Given the description of an element on the screen output the (x, y) to click on. 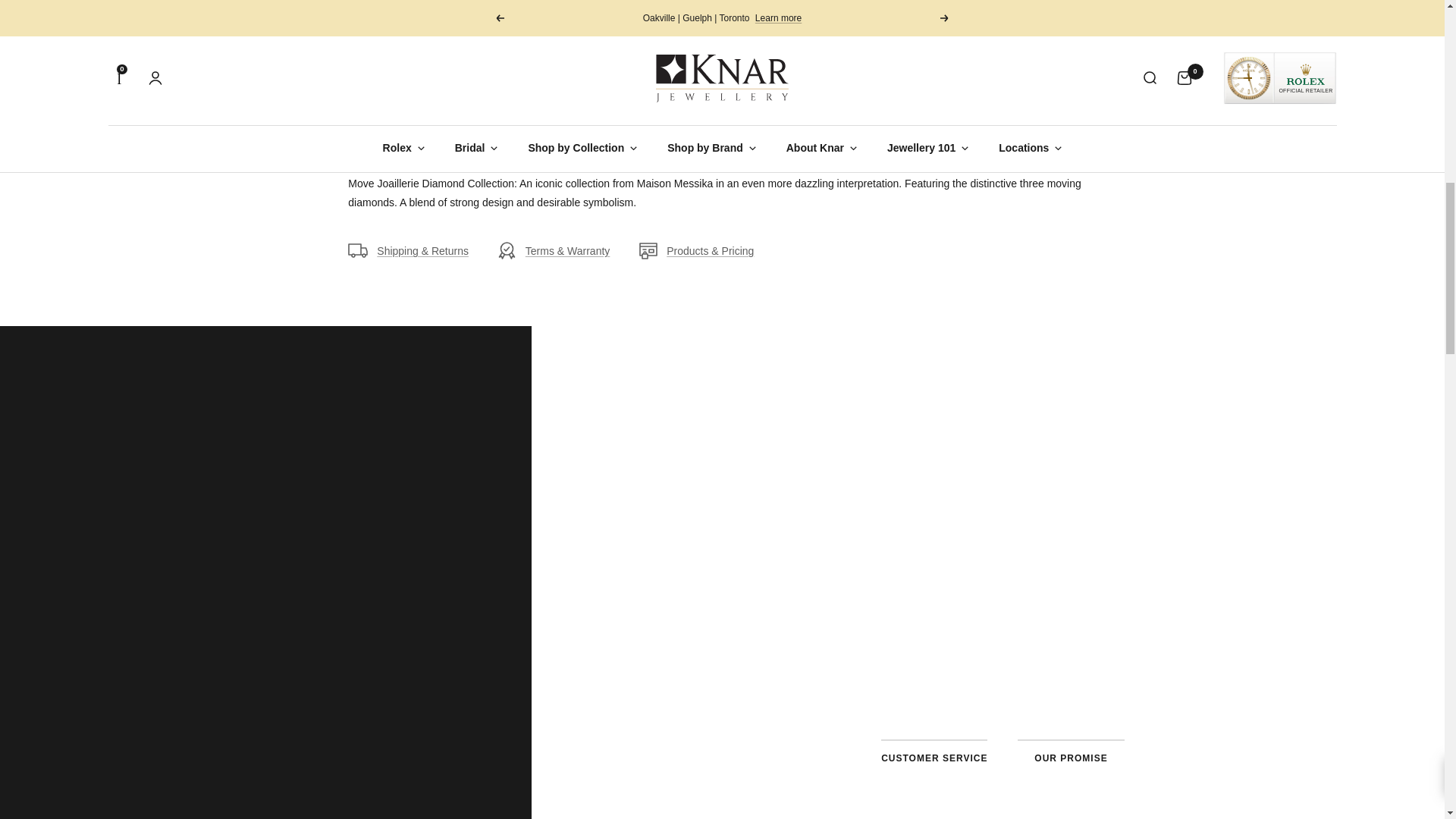
DESCRIPTION (383, 82)
ADDITIONAL INFORMATION (542, 82)
